Given the description of an element on the screen output the (x, y) to click on. 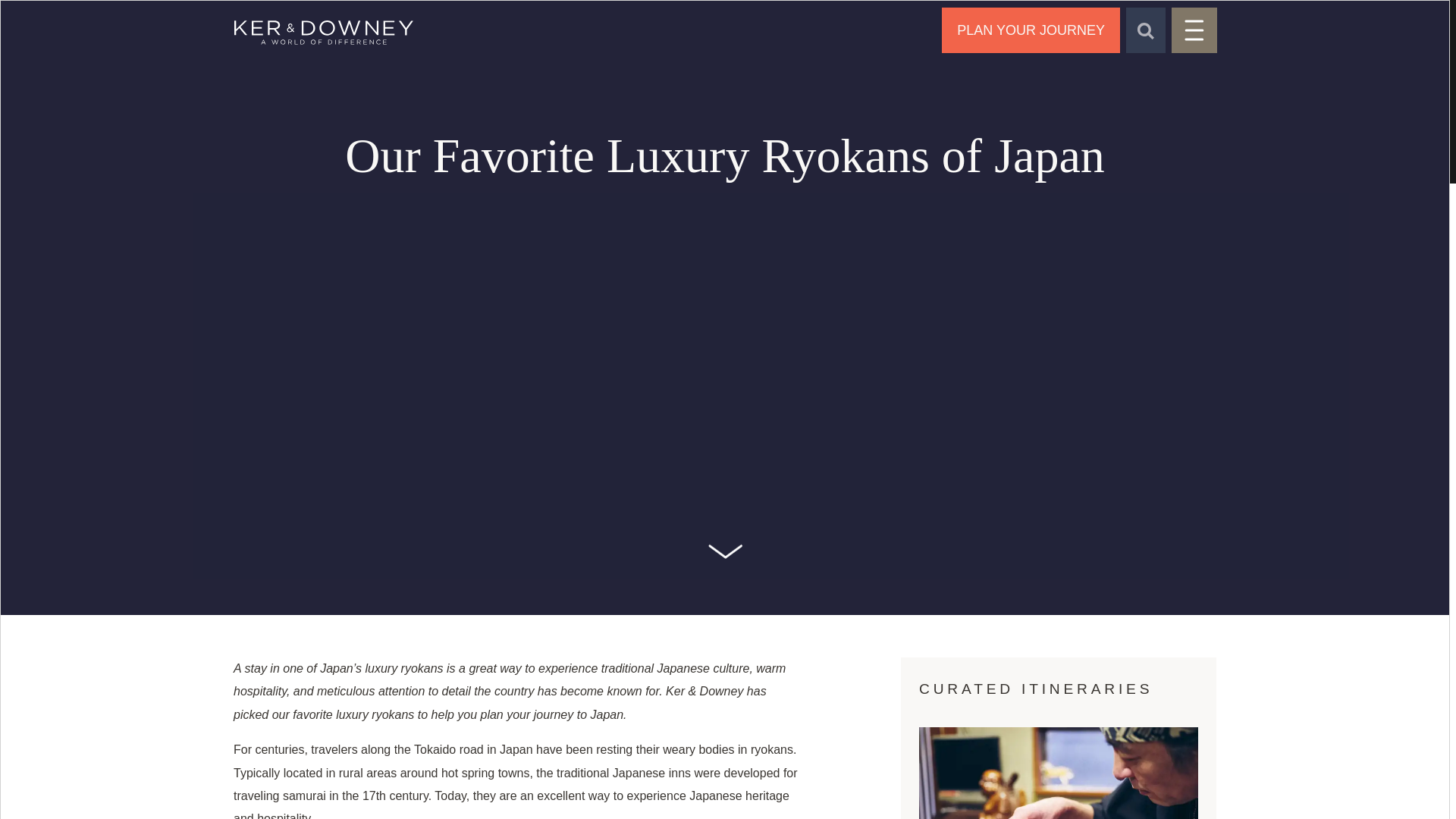
SEARCH (1145, 30)
Menu (1194, 30)
CONTACT (1030, 30)
